Given the description of an element on the screen output the (x, y) to click on. 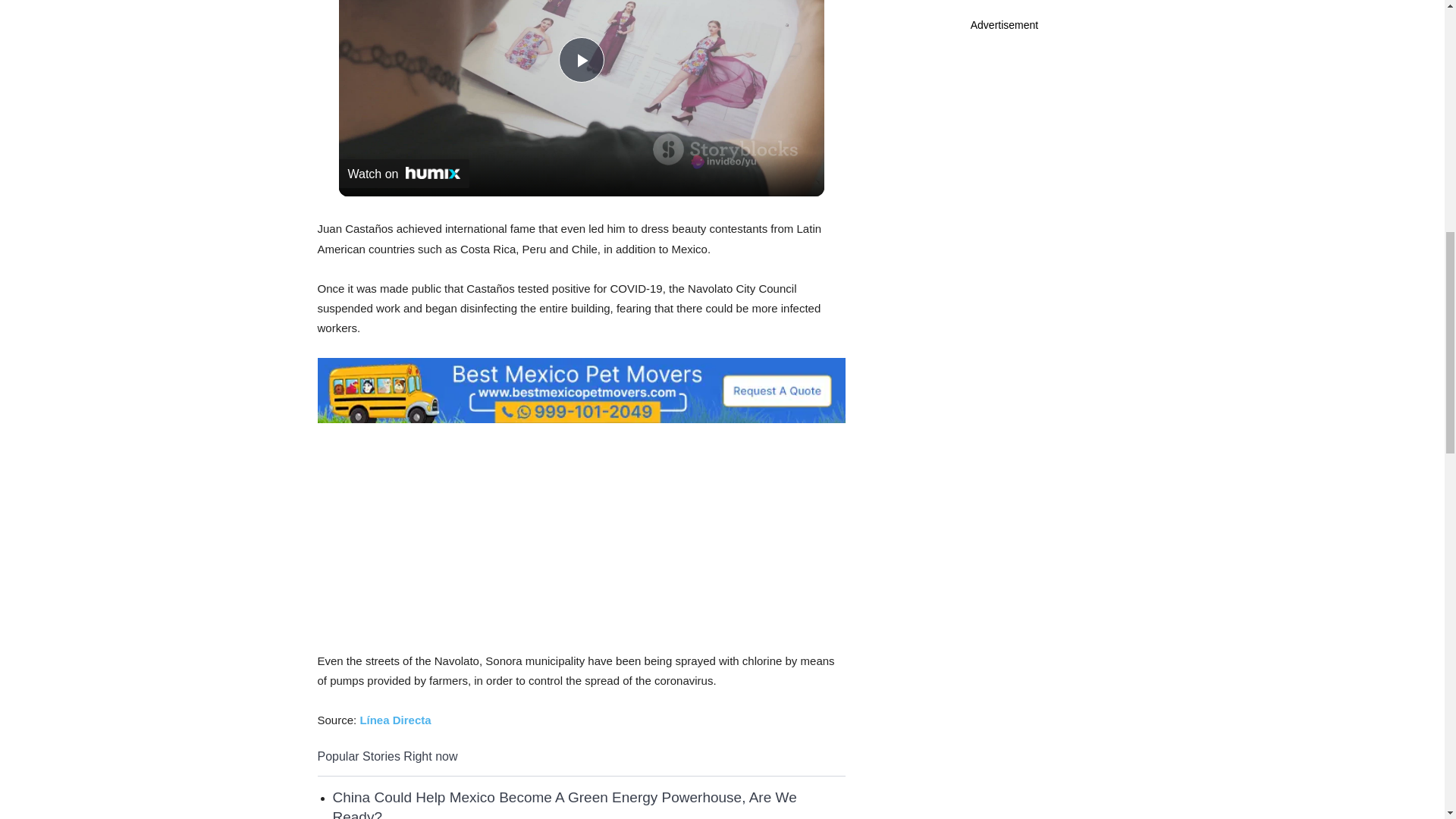
Play Video (580, 59)
